Given the description of an element on the screen output the (x, y) to click on. 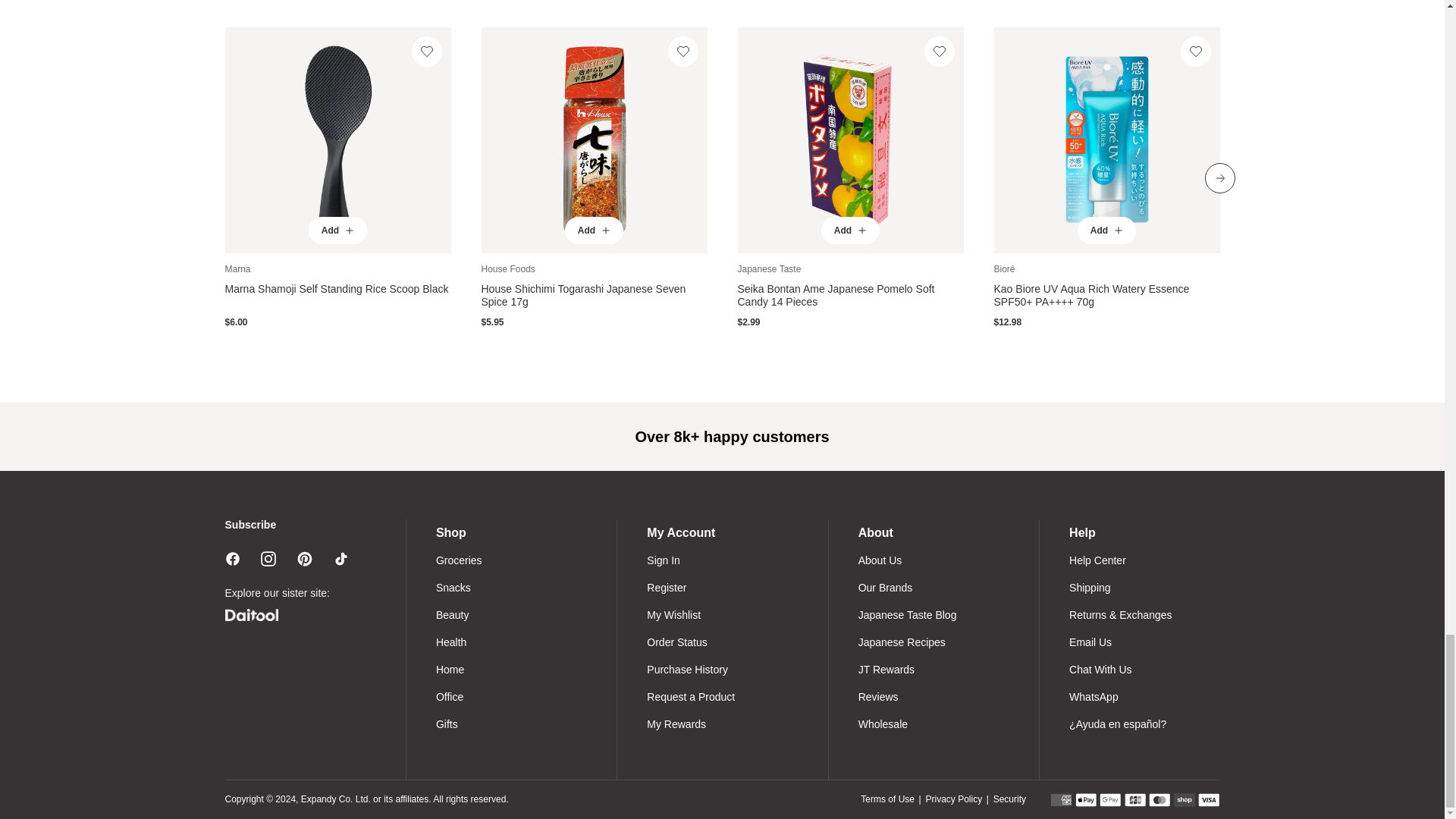
Japanese Taste on Facebook (232, 558)
Japanese Taste on TikTok (341, 558)
Japanese Taste on Instagram (268, 558)
Japanese Taste on Pinterest (305, 558)
